Given the description of an element on the screen output the (x, y) to click on. 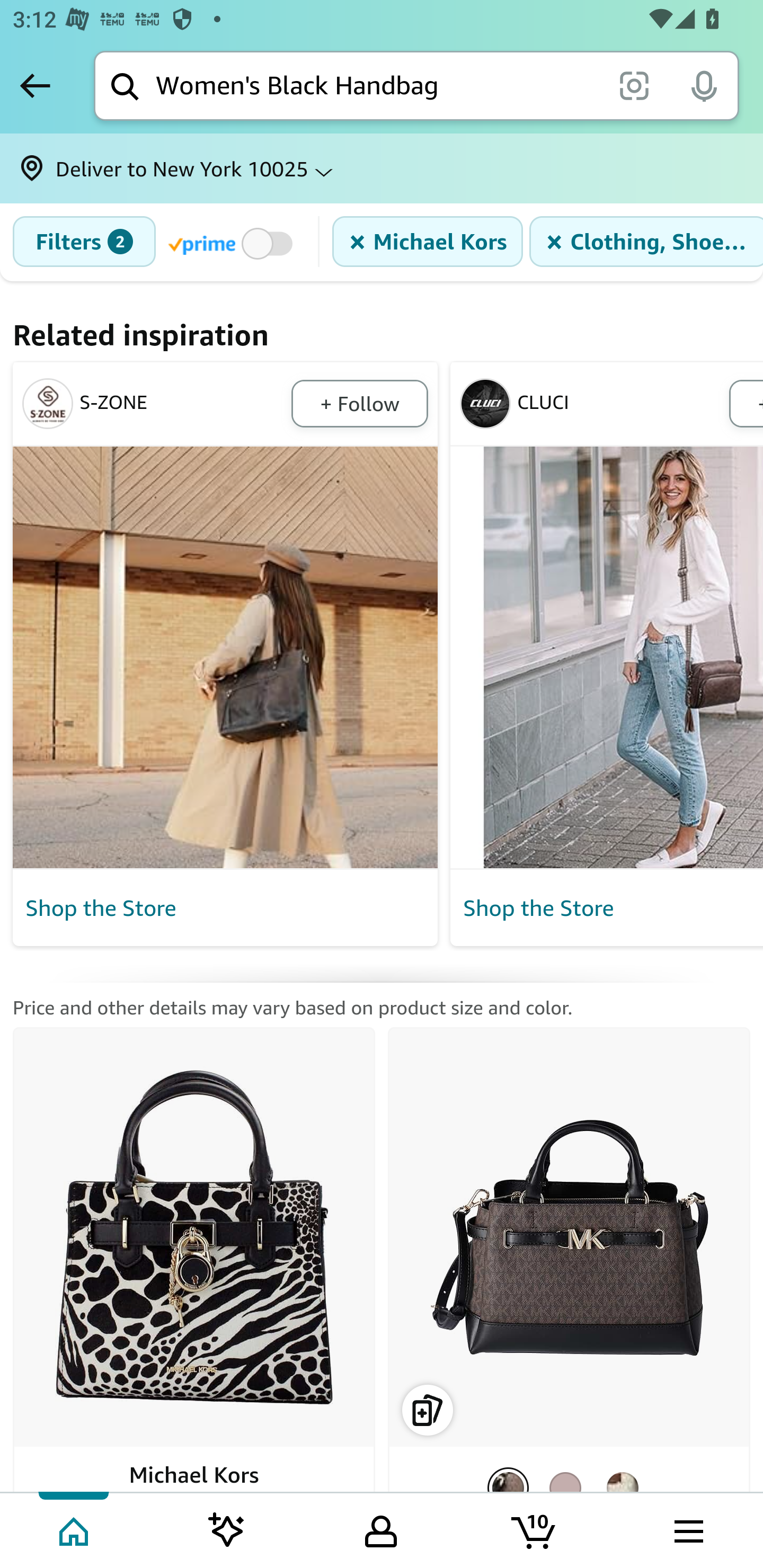
Back (35, 85)
scan it (633, 85)
Deliver to New York 10025 ⌵ (381, 168)
Filters 2 (83, 241)
Toggle to filter by Prime products Prime Eligible (233, 242)
× Michael Kors × Michael Kors (426, 241)
S-ZONE (154, 403)
CLUCI (591, 403)
Follow the brand (359, 403)
Content Image (225, 657)
Content Image (606, 657)
Shop the Store (225, 907)
Shop the Store (609, 907)
Home Tab 1 of 5 (75, 1529)
Inspire feed Tab 2 of 5 (227, 1529)
Your Amazon.com Tab 3 of 5 (380, 1529)
Cart 10 items Tab 4 of 5 10 (534, 1529)
Browse menu Tab 5 of 5 (687, 1529)
